Given the description of an element on the screen output the (x, y) to click on. 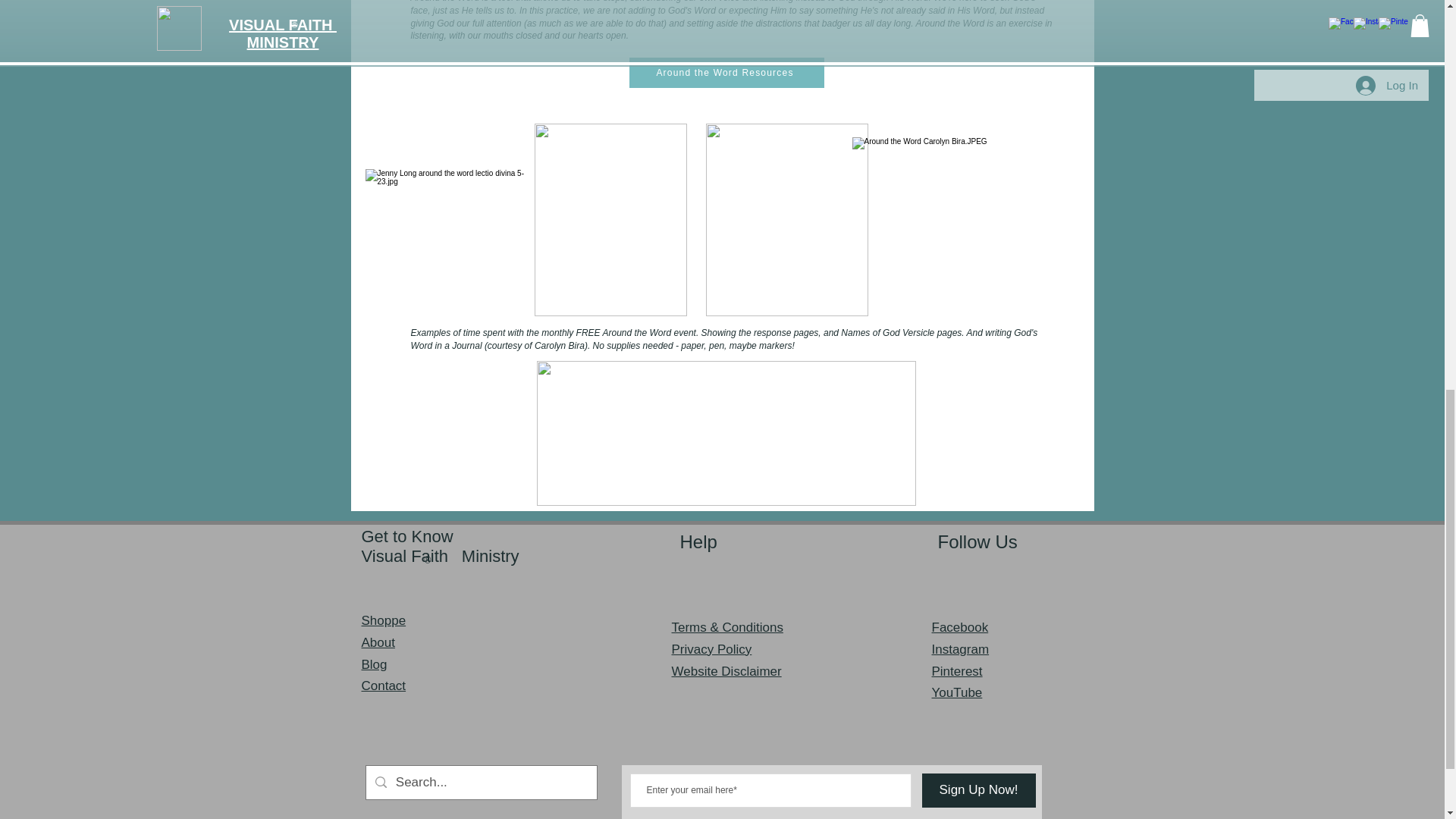
Around the Word Resources (726, 72)
Facebook (959, 626)
Contact (383, 685)
Privacy Policy (711, 649)
Blog (374, 663)
YouTube (956, 692)
Shoppe (383, 620)
About (377, 642)
Website Disclaimer (726, 671)
Pinterest (956, 671)
